Given the description of an element on the screen output the (x, y) to click on. 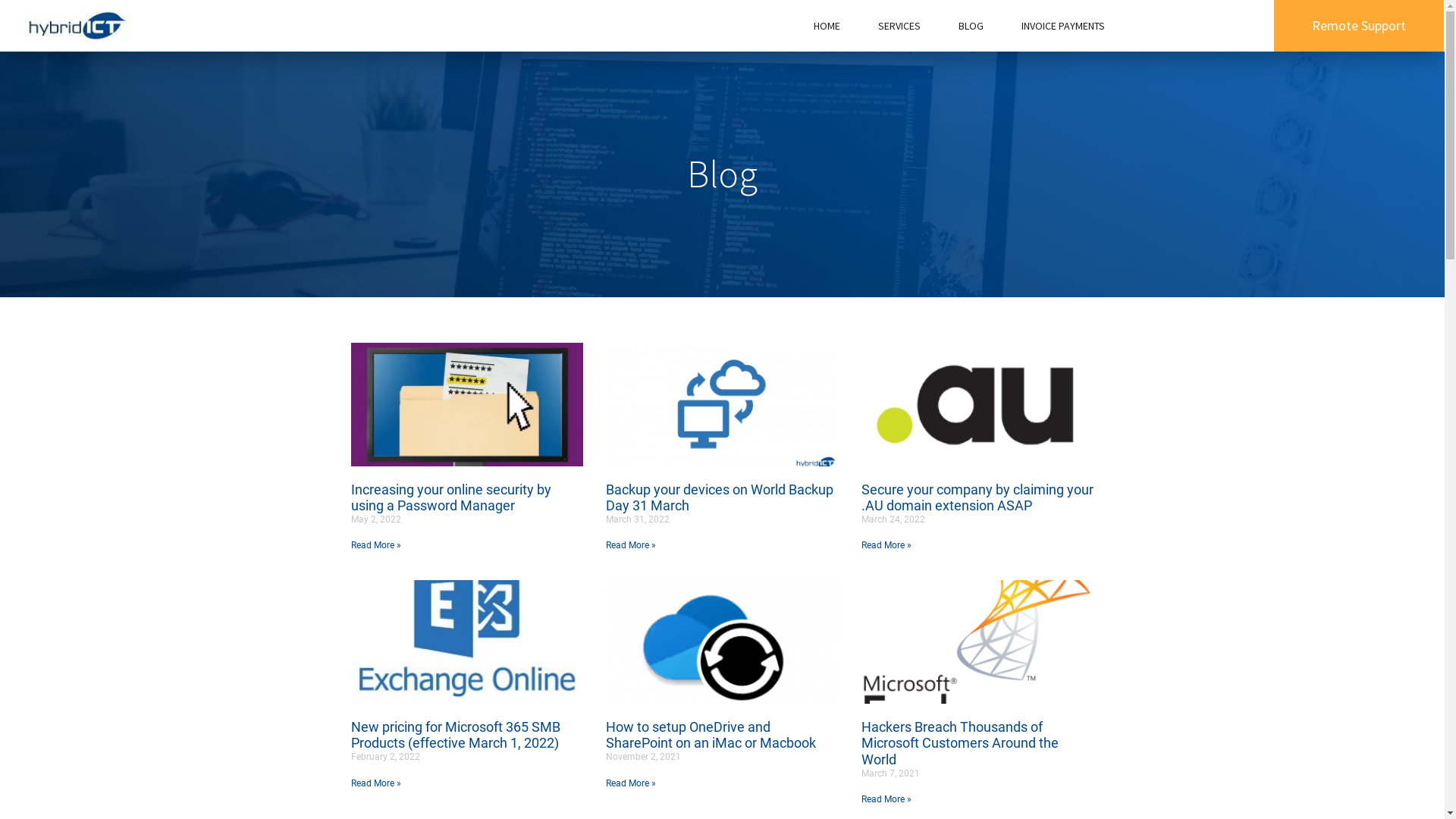
Backup your devices on World Backup Day 31 March Element type: text (719, 497)
Increasing your online security by using a Password Manager Element type: text (450, 497)
INVOICE PAYMENTS Element type: text (1062, 25)
Remote Support Element type: text (1358, 25)
HOME Element type: text (825, 25)
BLOG Element type: text (970, 25)
How to setup OneDrive and SharePoint on an iMac or Macbook Element type: text (710, 734)
SERVICES Element type: text (898, 25)
